Given the description of an element on the screen output the (x, y) to click on. 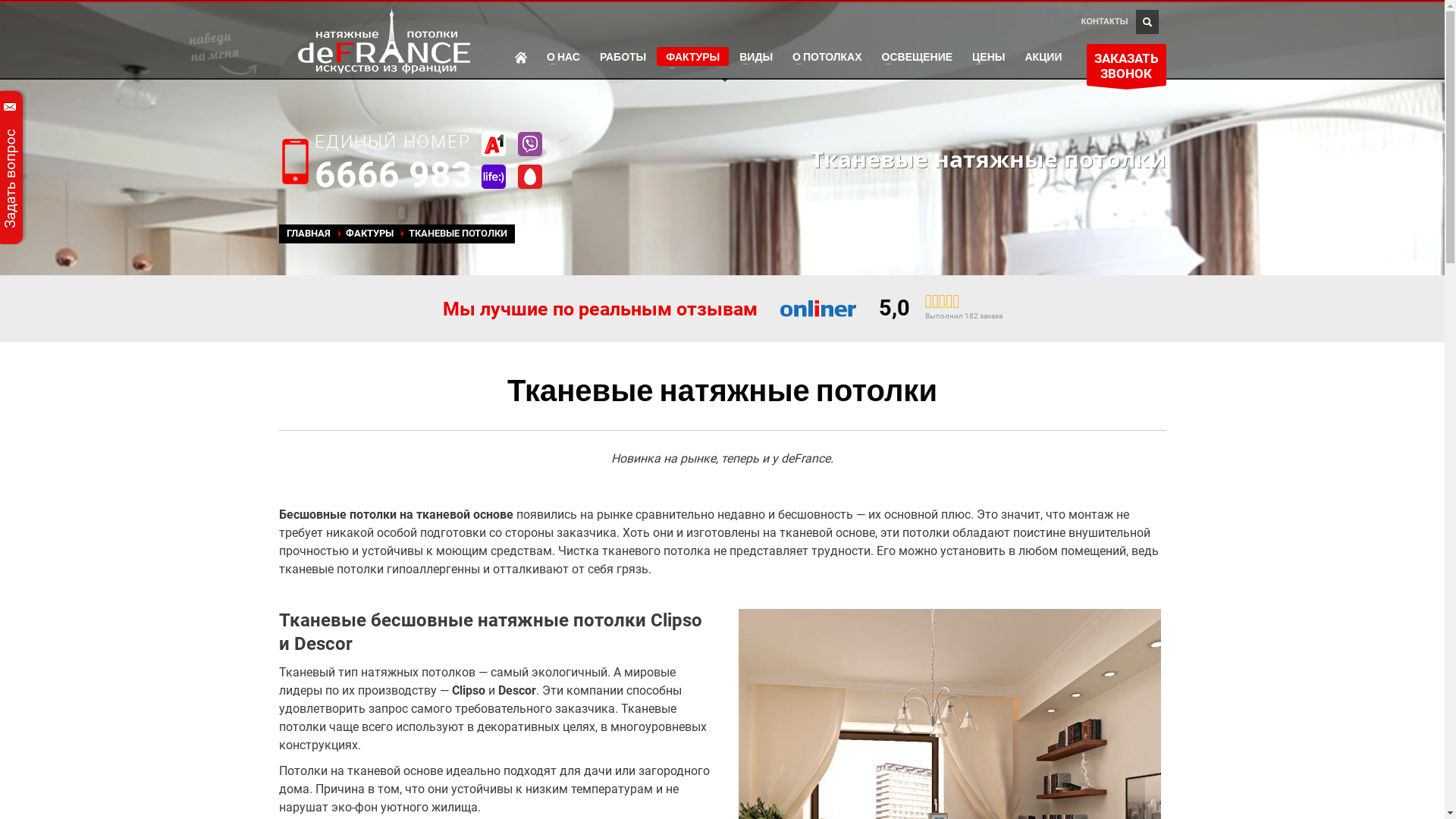
A1 Element type: hover (492, 143)
5,0 Element type: text (893, 308)
Life Element type: hover (492, 176)
Call us Element type: hover (295, 161)
Viber Element type: hover (529, 143)
MTS Element type: hover (529, 176)
